Given the description of an element on the screen output the (x, y) to click on. 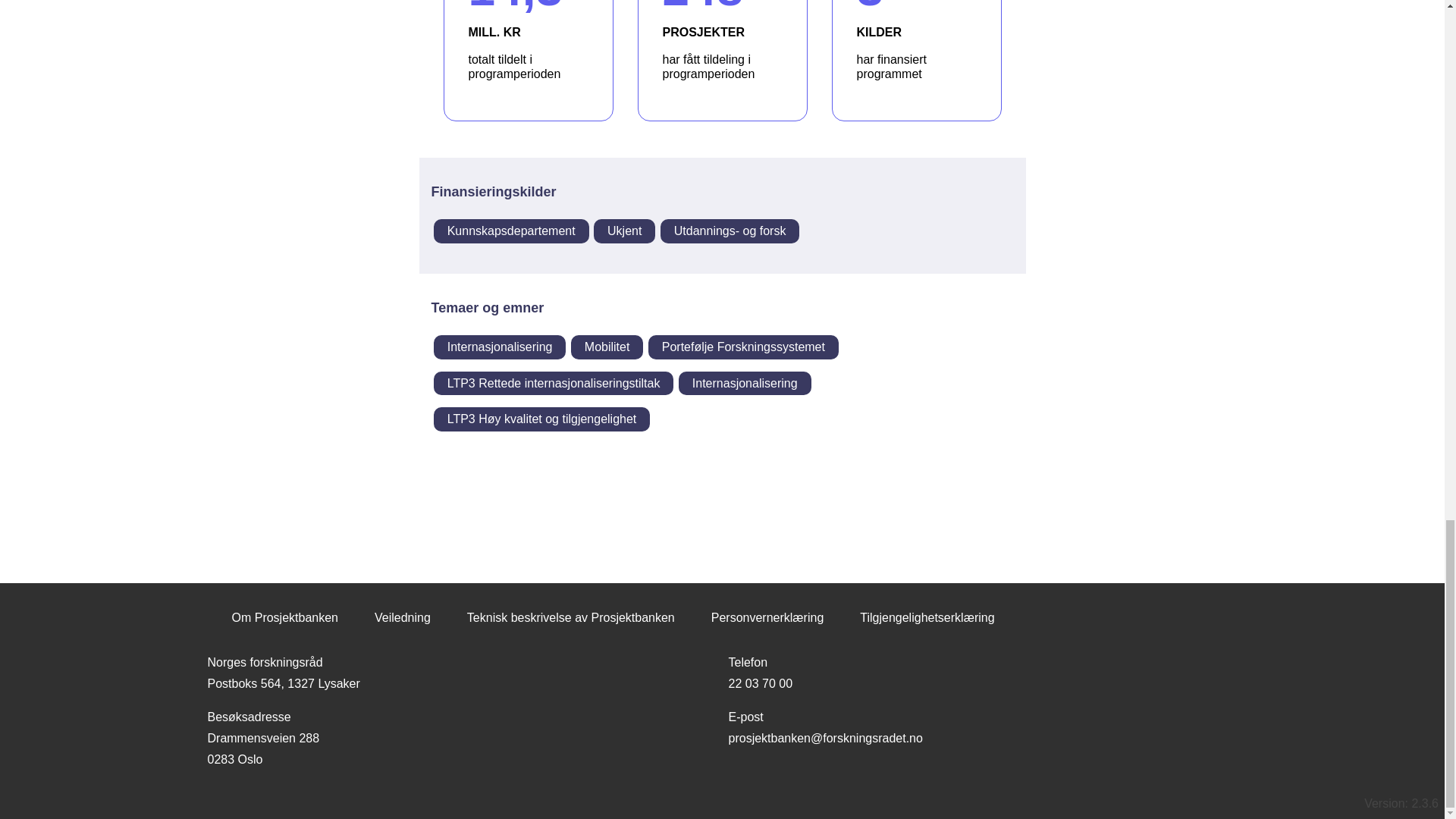
Om Prosjektbanken (284, 617)
Internasjonalisering (499, 346)
Kunnskapsdepartement (511, 231)
Ukjent (624, 231)
Mobilitet (916, 60)
Veiledning (606, 346)
Internasjonalisering (402, 617)
Teknisk beskrivelse av Prosjektbanken (744, 383)
Utdannings- og forsk (570, 617)
LTP3 Rettede internasjonaliseringstiltak (730, 231)
